Given the description of an element on the screen output the (x, y) to click on. 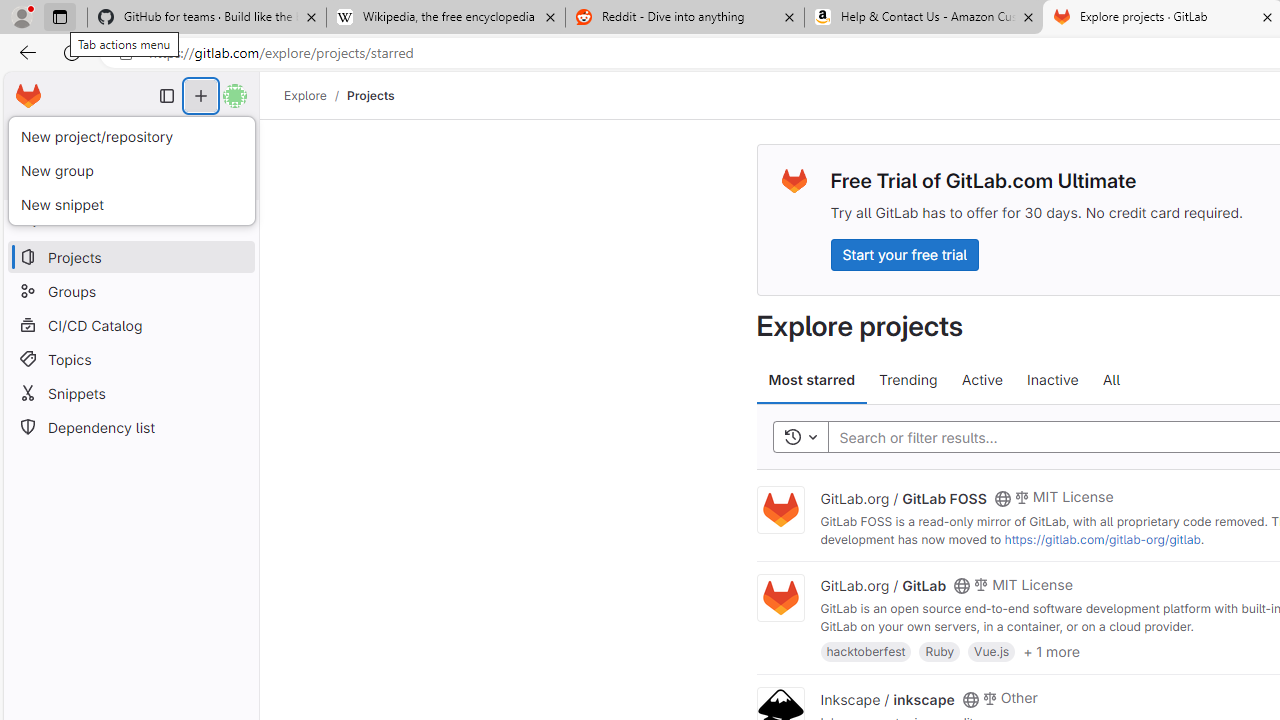
Create new... (201, 96)
New group (131, 170)
Explore (305, 95)
Primary navigation sidebar (167, 96)
Ruby (940, 650)
Start your free trial (904, 254)
CI/CD Catalog (130, 325)
Snippets (130, 393)
New project/repository (131, 137)
Vue.js (991, 650)
New project/repositoryNew groupNew snippet (131, 170)
